Given the description of an element on the screen output the (x, y) to click on. 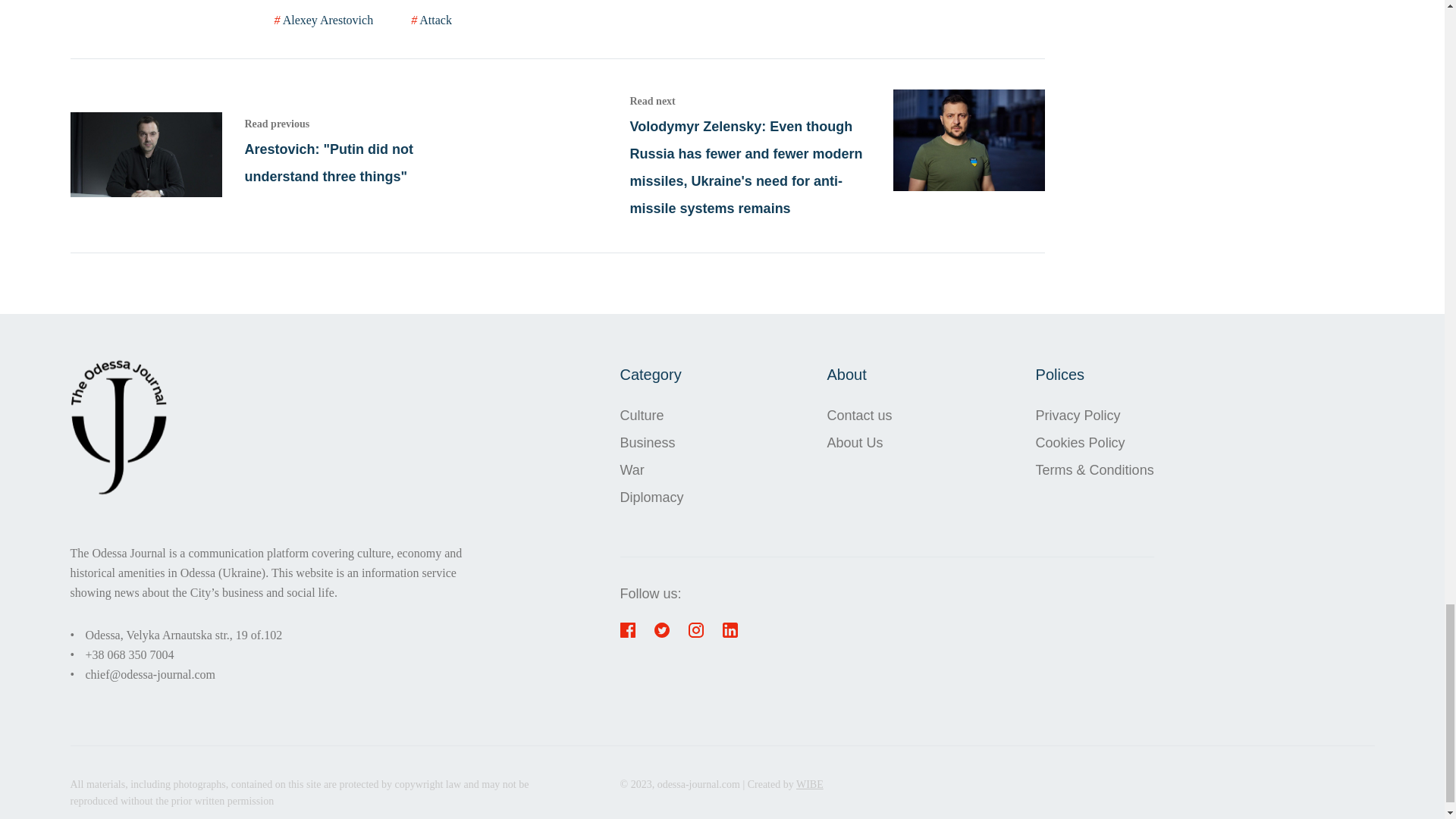
Culture (652, 415)
Privacy Policy (1094, 415)
War (652, 470)
About Us (859, 442)
Contact us (859, 415)
Culture (652, 415)
Cookies Policy (1094, 442)
Odessa, Velyka Arnautska str., 19 of.102 (183, 634)
Business (652, 442)
Read (835, 155)
Alexey Arestovich (324, 19)
Attack (430, 19)
Read (276, 155)
